Given the description of an element on the screen output the (x, y) to click on. 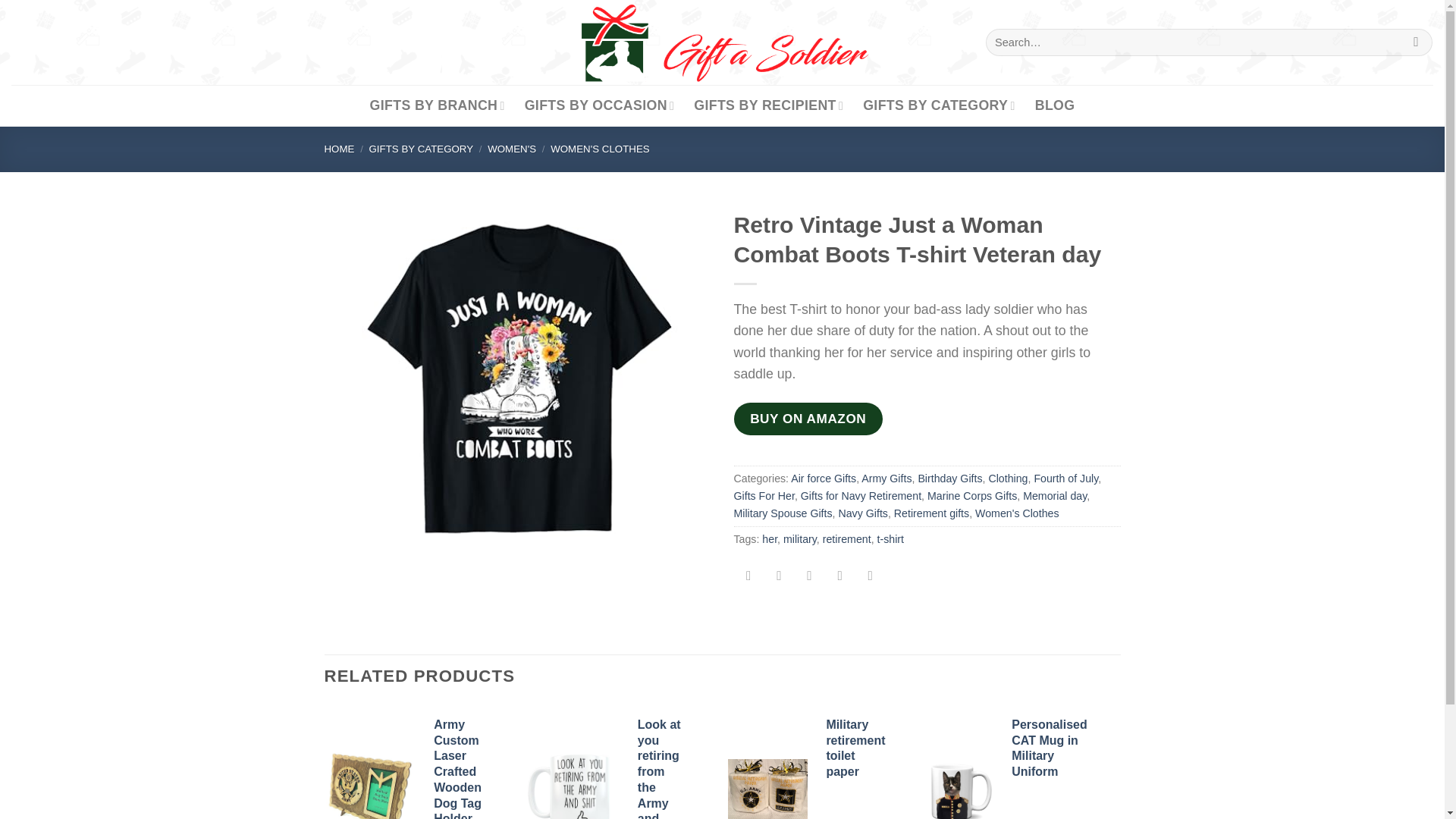
GIFTS BY BRANCH (437, 105)
Military retirement toilet paper (768, 789)
Look at you retiring from the Army and shit - Mug (572, 782)
Search (1415, 41)
GIFTS BY OCCASION (599, 105)
GIFTS BY RECIPIENT (768, 105)
Gift a Soldier - Gift Guide for Military community (721, 42)
Army Custom Laser Crafted Wooden Dog Tag Holder Plaque (368, 784)
